Given the description of an element on the screen output the (x, y) to click on. 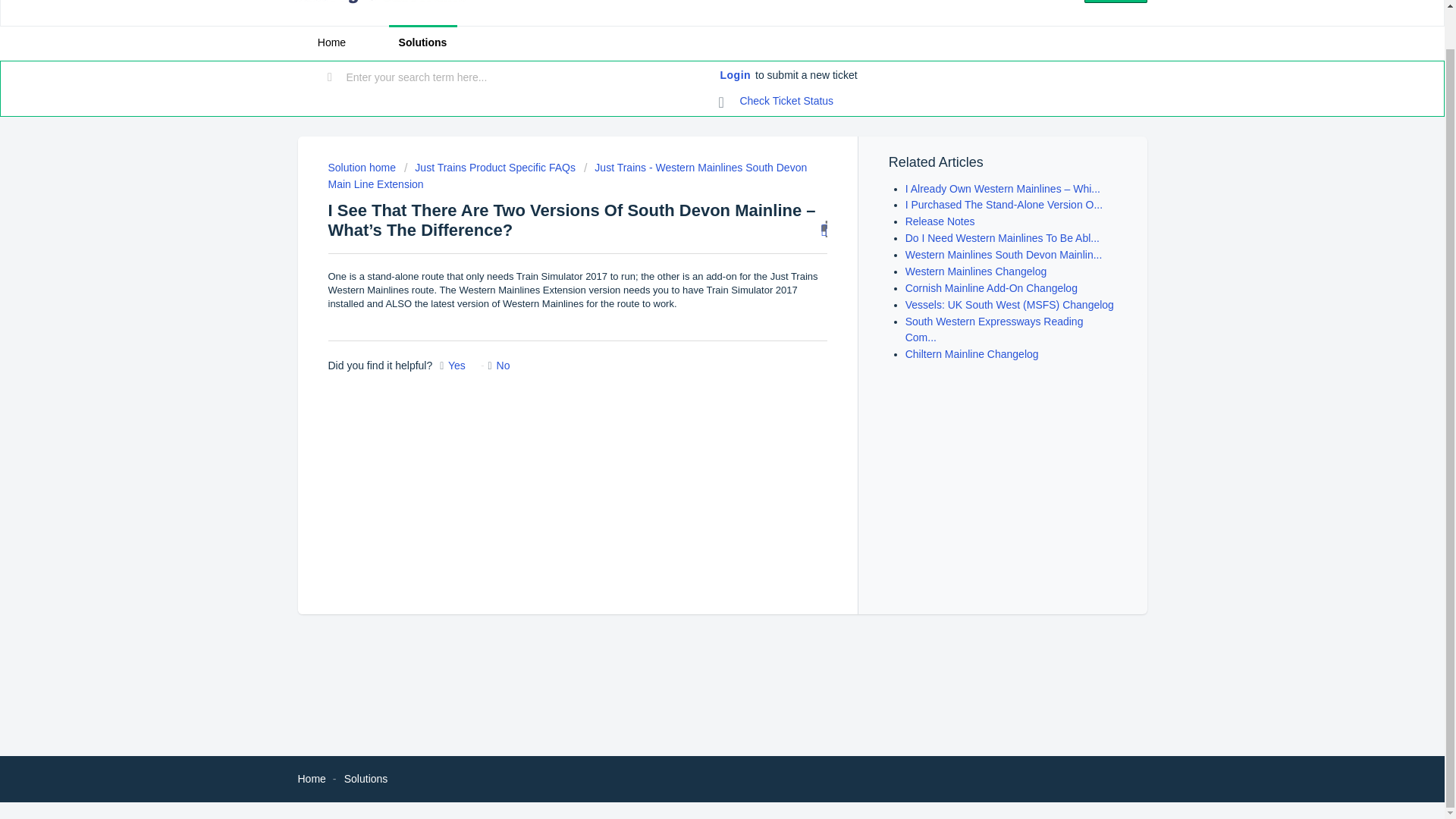
Login (735, 75)
I Purchased The Stand-Alone Version O... (1003, 204)
Solution home (362, 167)
Solutions (365, 777)
Home (310, 777)
Just Trains Product Specific FAQs (489, 167)
LOGIN (1115, 1)
Western Mainlines Changelog (975, 271)
